Given the description of an element on the screen output the (x, y) to click on. 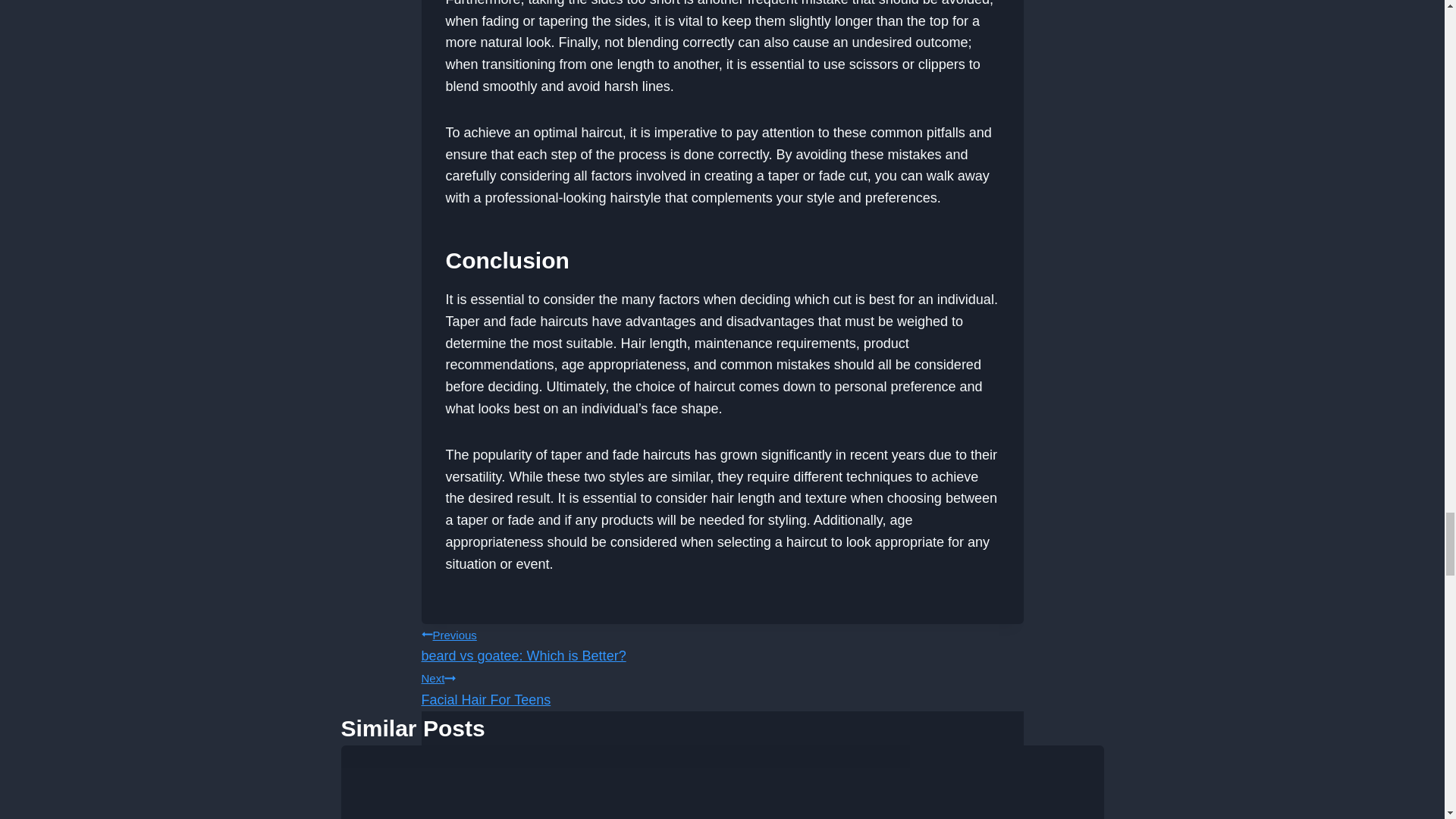
Tips On How To Be A Gentleman 2 (722, 644)
